Given the description of an element on the screen output the (x, y) to click on. 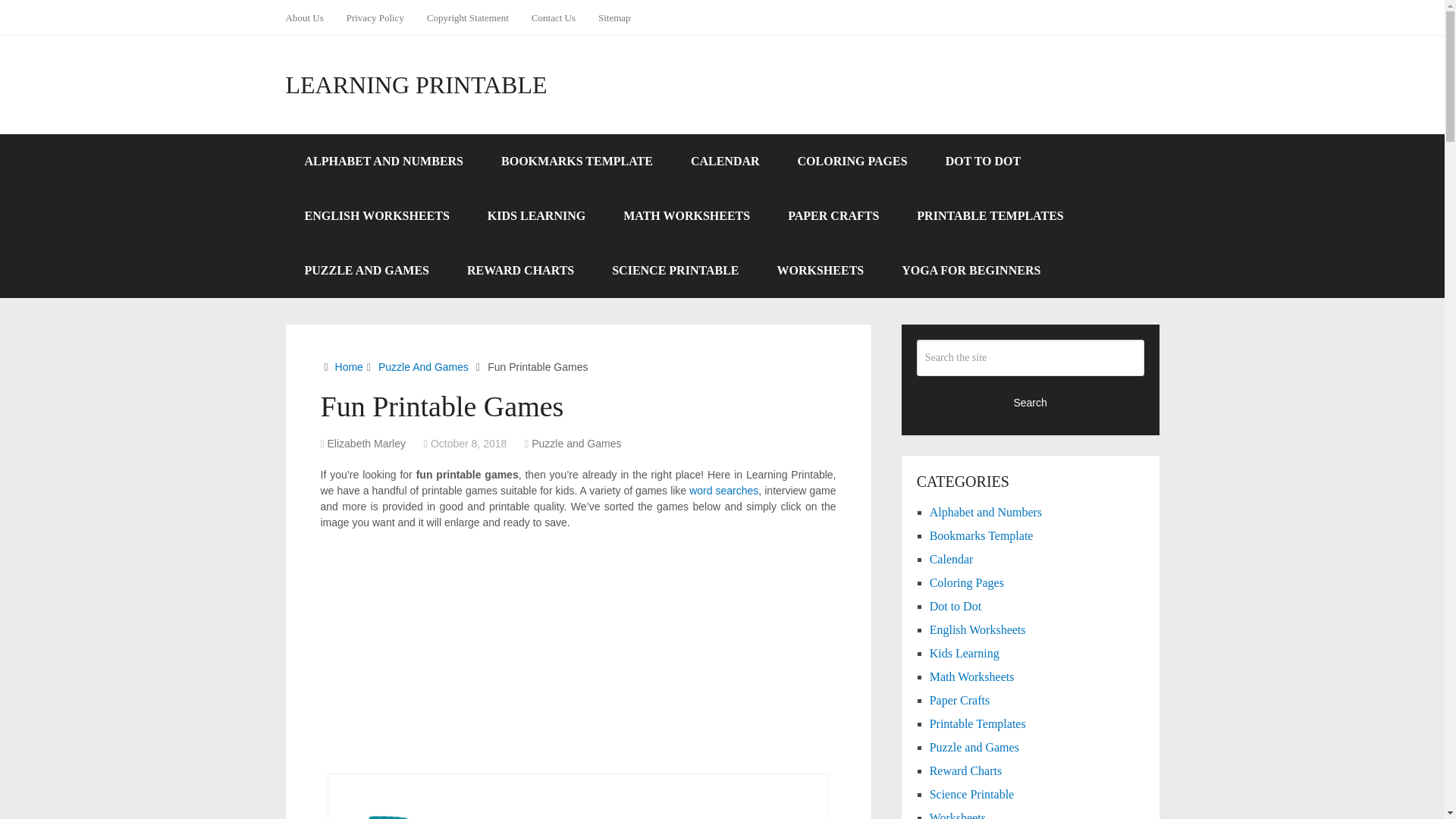
Pin It (885, 230)
PAPER CRAFTS (833, 216)
ENGLISH WORKSHEETS (376, 216)
PRINTABLE TEMPLATES (989, 216)
Advertisement (577, 652)
Posts by Elizabeth Marley (366, 443)
About Us (309, 17)
KIDS LEARNING (536, 216)
word searches (723, 490)
Puzzle and Games (576, 443)
